Given the description of an element on the screen output the (x, y) to click on. 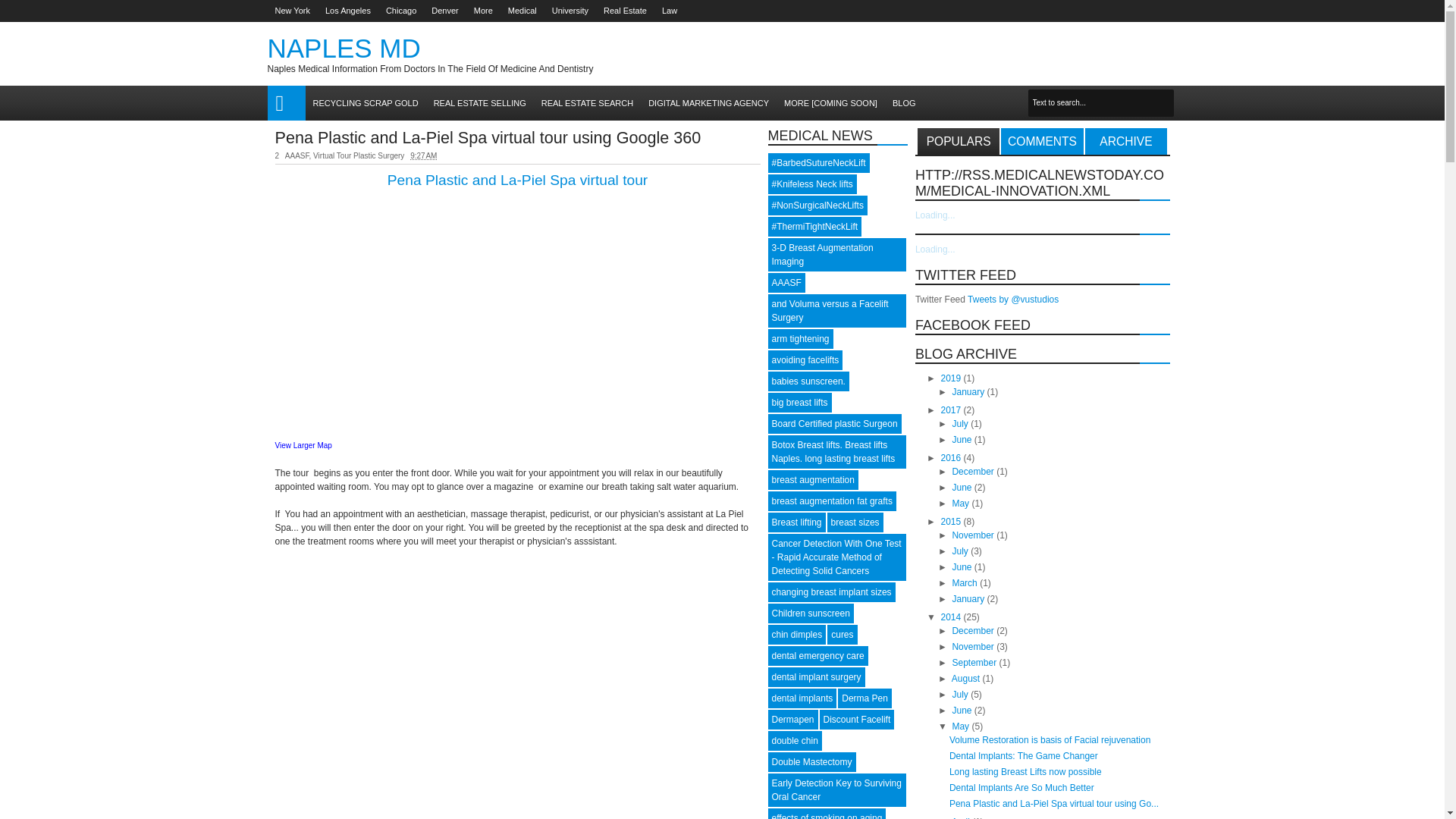
University (569, 11)
Real Estate (624, 11)
RECYCLING SCRAP GOLD (364, 102)
google (1087, 11)
Law (668, 11)
Denver (444, 11)
HOME (285, 102)
dribbble (1147, 11)
Chicago (400, 11)
twitter (1048, 11)
NAPLES MD (343, 48)
Medical (522, 11)
REAL ESTATE SELLING (480, 102)
pinterest (1166, 11)
linkedin (1127, 11)
